Given the description of an element on the screen output the (x, y) to click on. 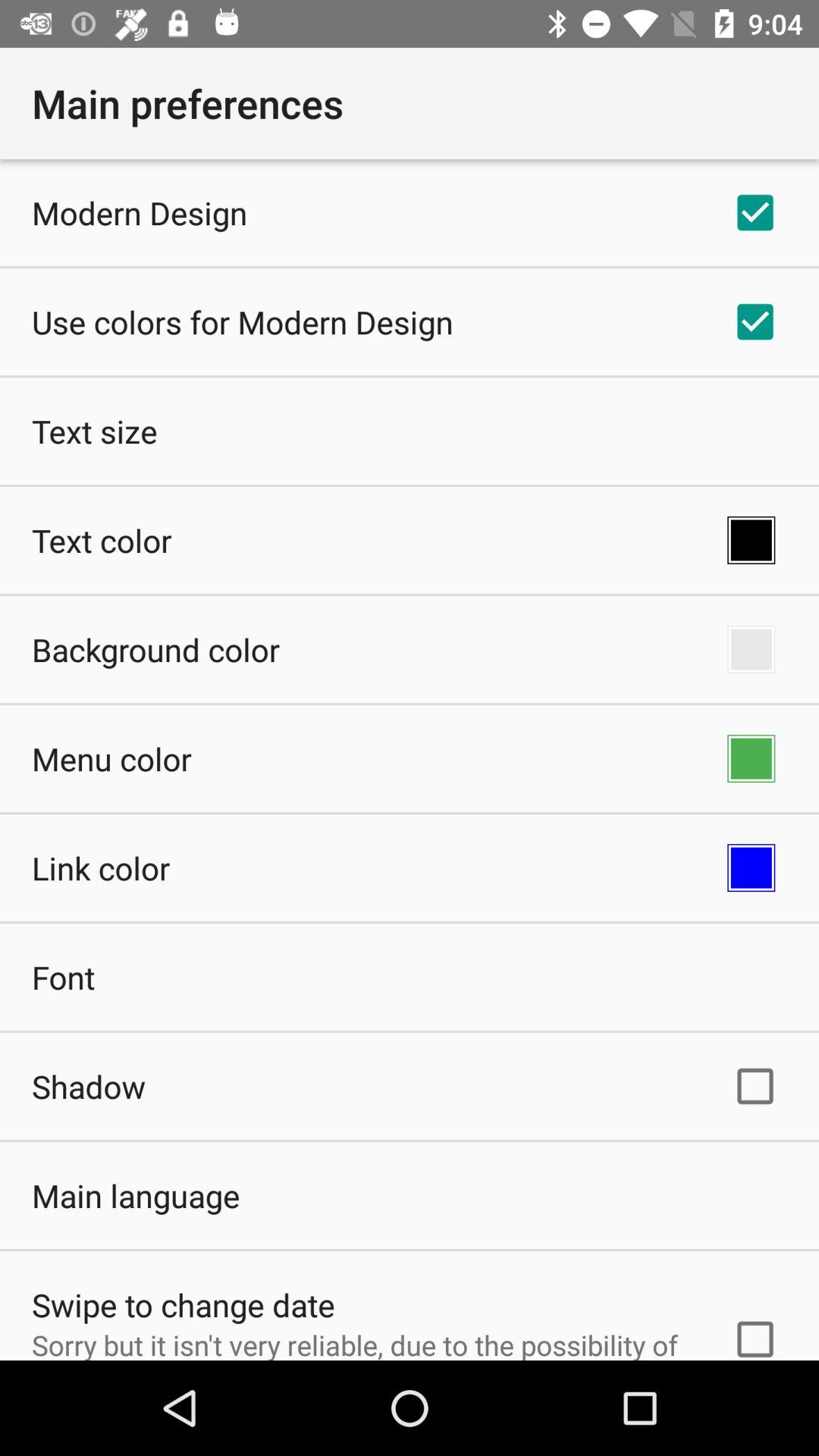
turn on the shadow app (88, 1085)
